Given the description of an element on the screen output the (x, y) to click on. 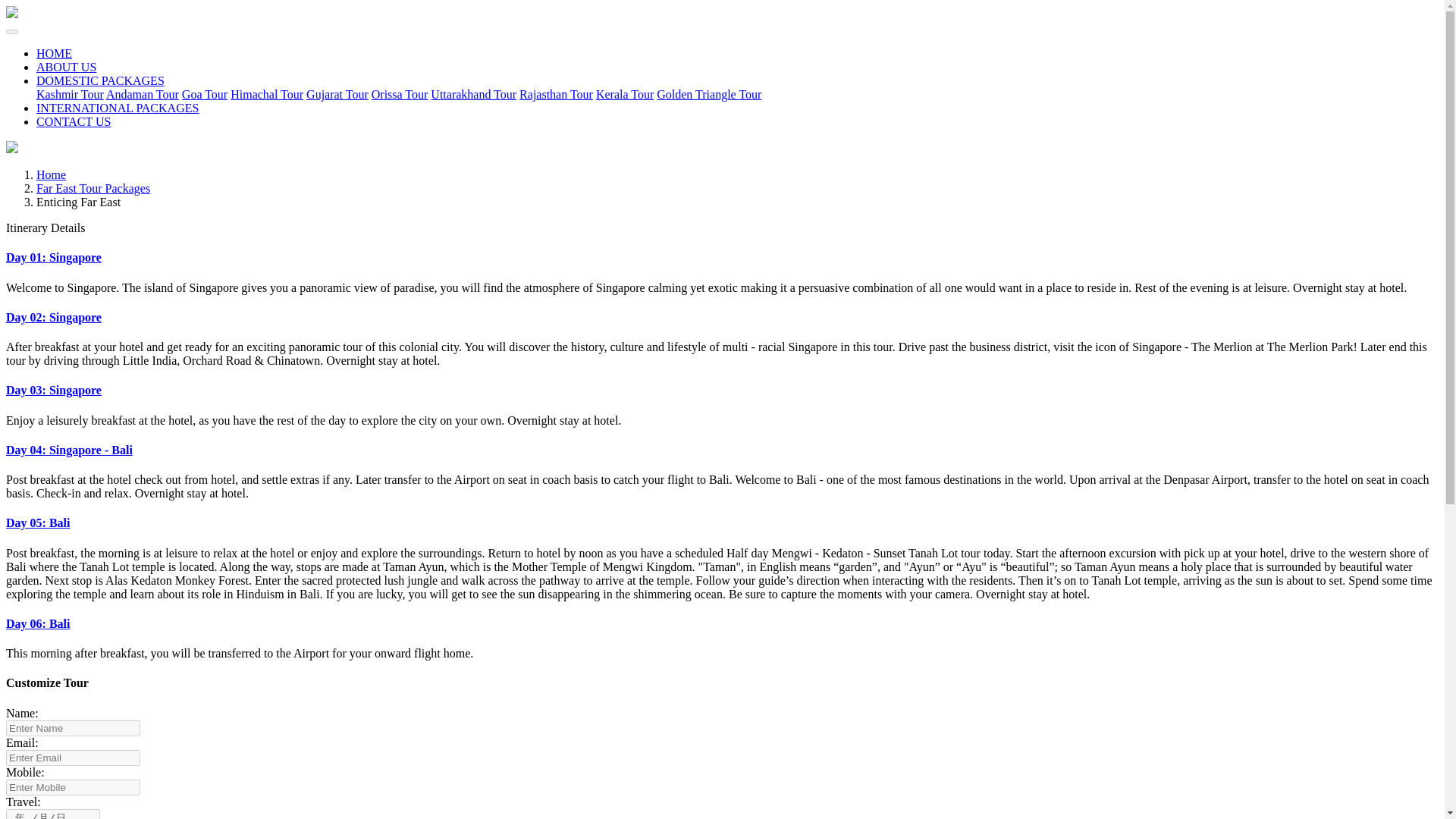
Day 01: Singapore (53, 256)
Andaman Tour (142, 93)
Himachal Tour (266, 93)
Rajasthan Tour (555, 93)
Uttarakhand Tour (473, 93)
Home (50, 174)
ABOUT US (66, 66)
Kashmir Tour (69, 93)
HOME (53, 52)
Day 03: Singapore (53, 390)
Far East Tour Packages (92, 187)
Day 02: Singapore (53, 317)
Goa Tour (204, 93)
Day 04: Singapore - Bali (68, 449)
Orissa Tour (399, 93)
